Given the description of an element on the screen output the (x, y) to click on. 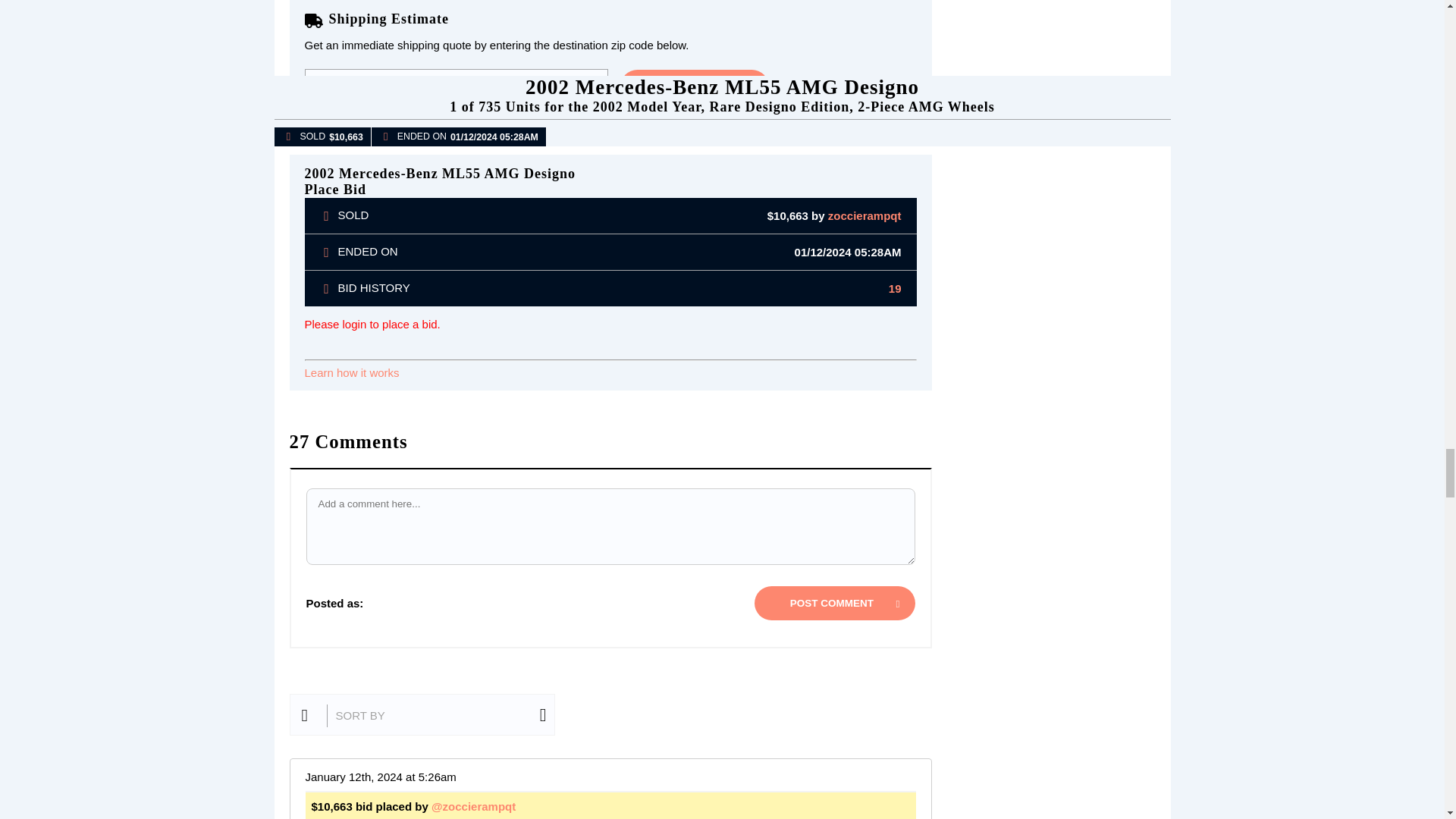
Bid History (328, 287)
View Profile (864, 215)
Bid History (894, 287)
